Given the description of an element on the screen output the (x, y) to click on. 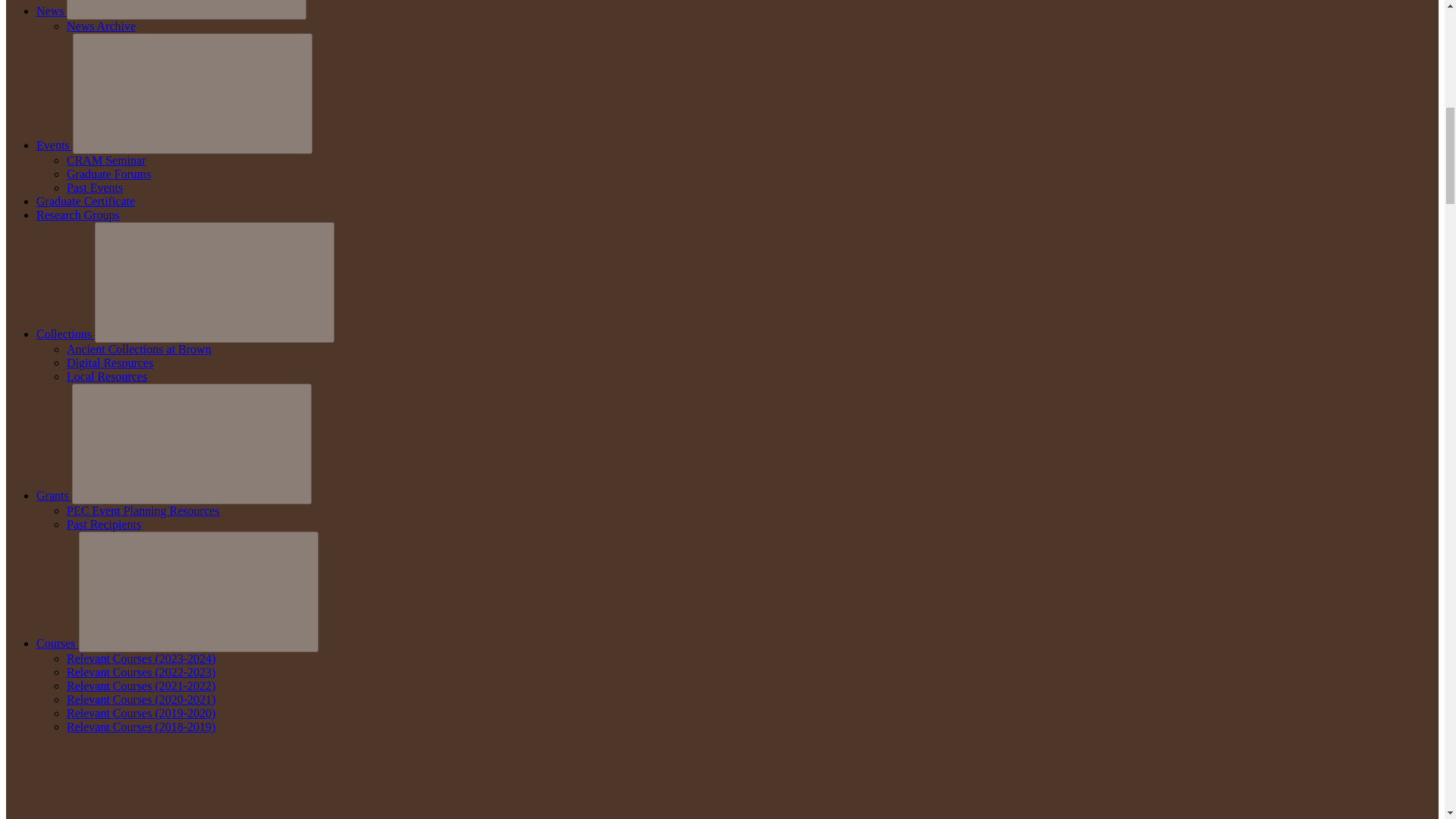
Courses (57, 643)
Graduate Forums (108, 173)
Research Groups (77, 214)
Grants (53, 495)
Local Resources (106, 376)
Digital Resources (109, 362)
Graduate Certificate (85, 201)
PEC Event Planning Resources (142, 510)
News (51, 10)
Ancient Collections at Brown (138, 349)
Past Recipients (103, 523)
CRAM Seminar (105, 160)
Past Events (94, 187)
News Archive (100, 25)
Collections (65, 333)
